Given the description of an element on the screen output the (x, y) to click on. 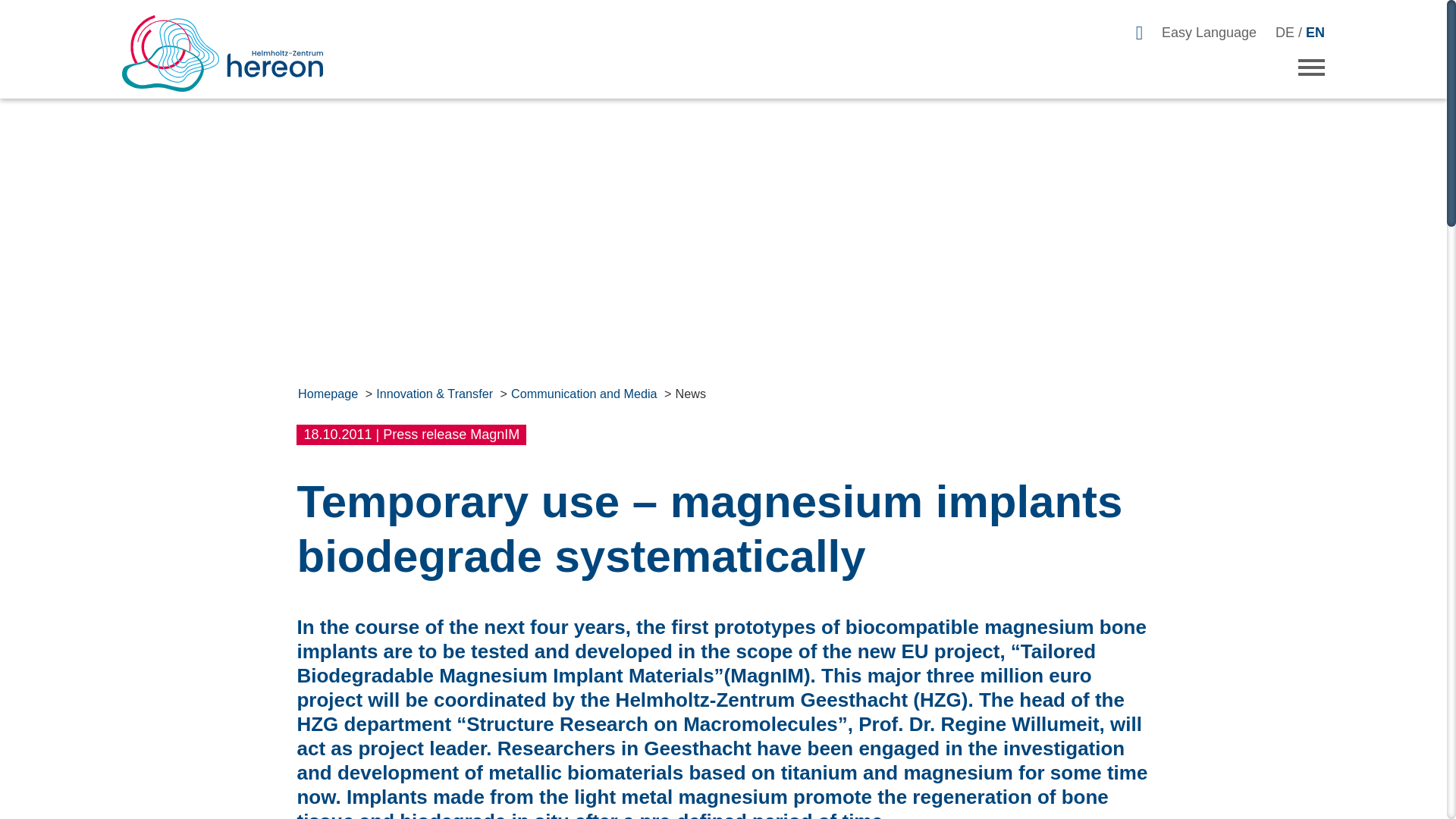
Easy Language (1208, 32)
To Homepage (232, 60)
Easy Language (1208, 32)
To Homepage (232, 60)
Click to change language (1299, 32)
OPEN NAV (1311, 67)
Logo des Helmholtz-Zentrums Hereon (222, 53)
